Given the description of an element on the screen output the (x, y) to click on. 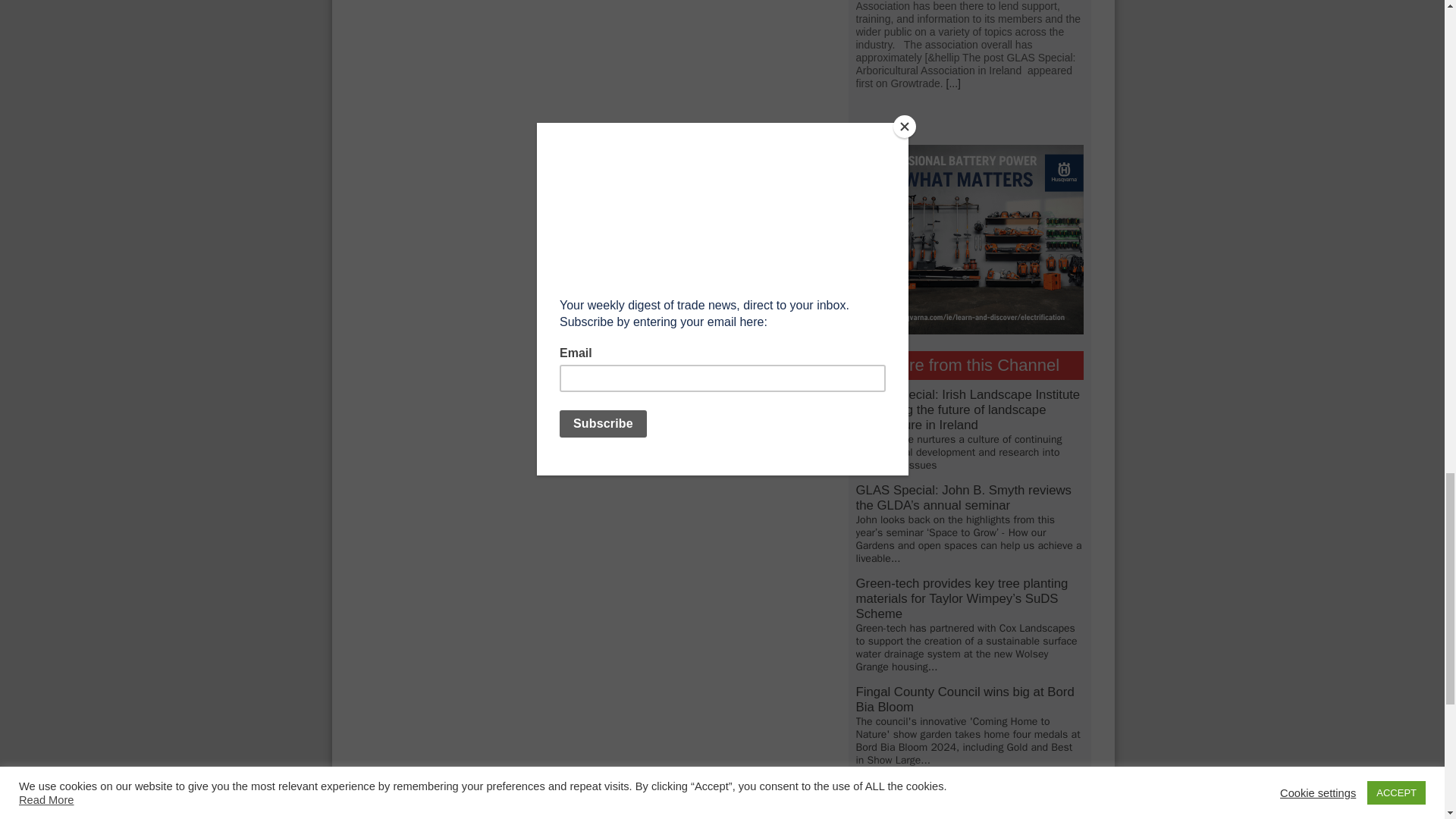
Read more (953, 82)
